Given the description of an element on the screen output the (x, y) to click on. 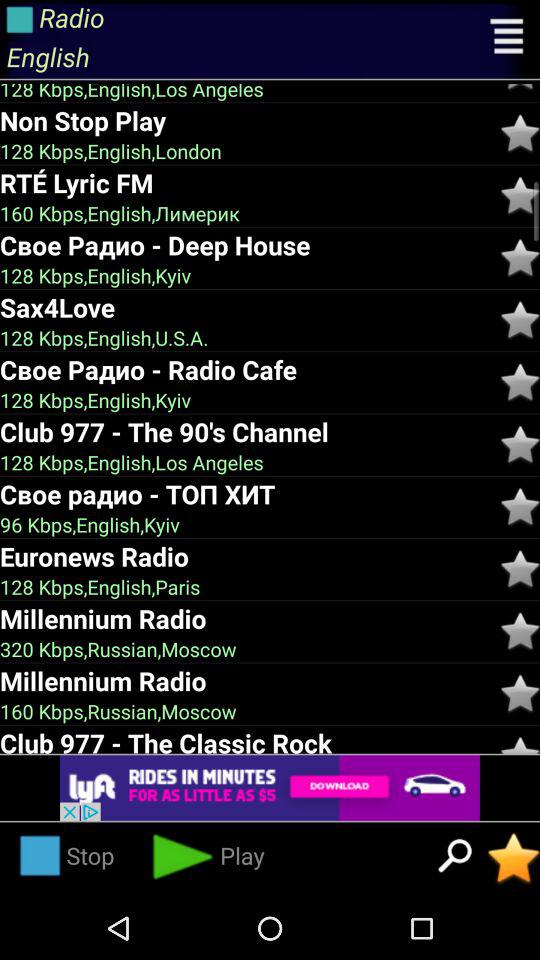
click to add favorite (520, 87)
